Given the description of an element on the screen output the (x, y) to click on. 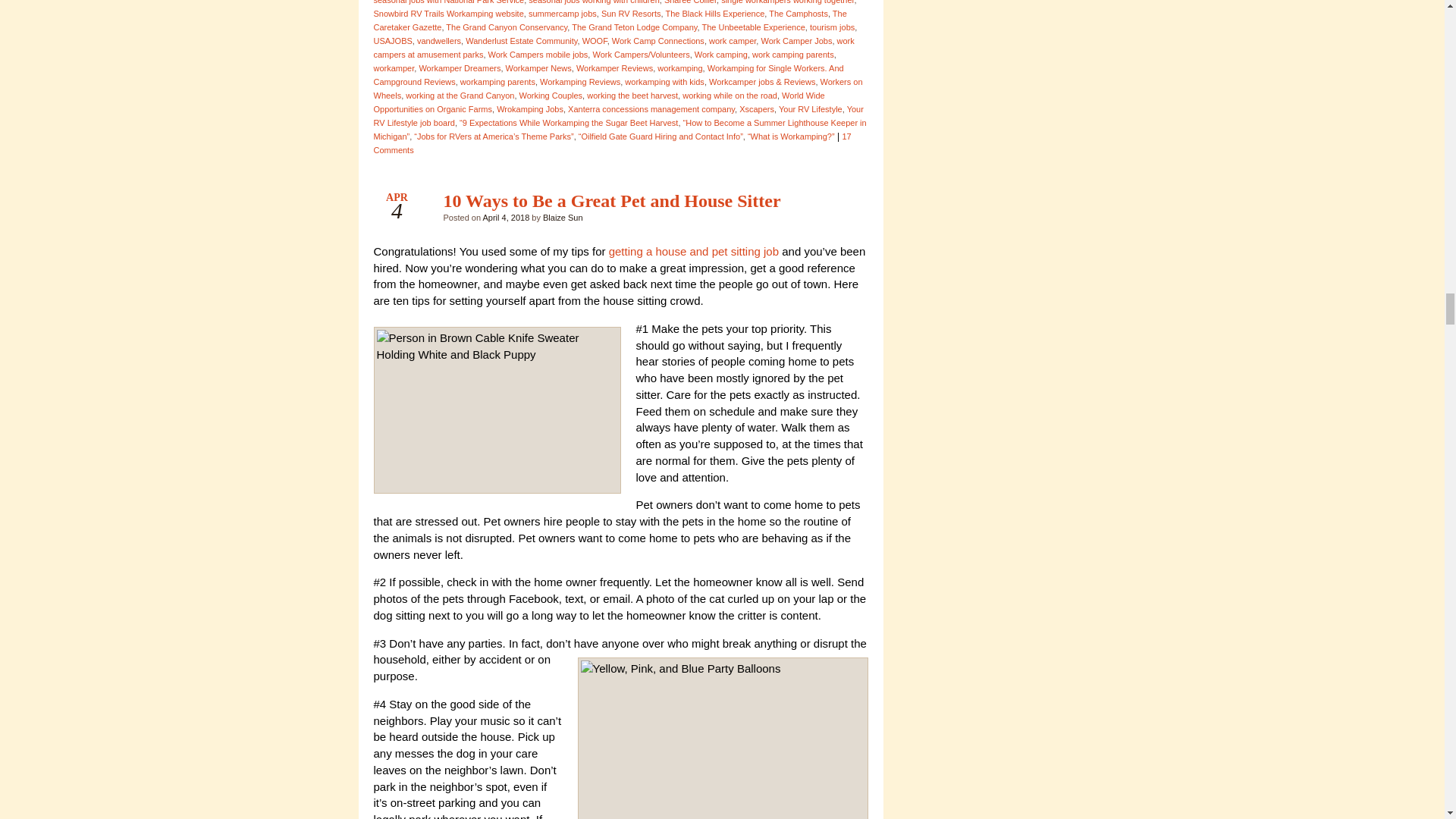
12:35 pm (505, 216)
View all posts by Blaize Sun (563, 216)
Permalink to 10 Ways to Be a Great Pet and House Sitter (611, 200)
All Standard posts (843, 204)
